Given the description of an element on the screen output the (x, y) to click on. 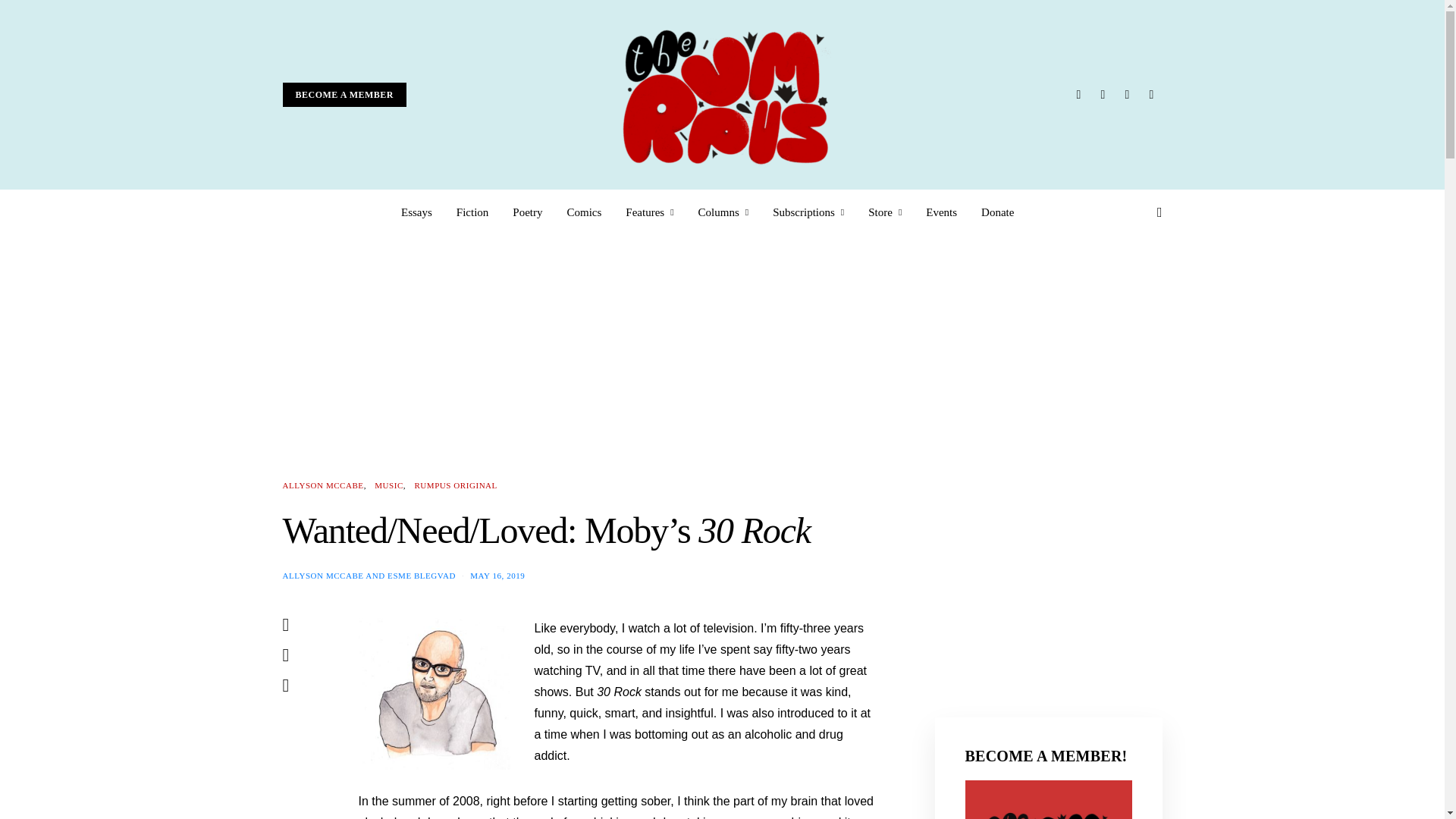
BECOME A MEMBER (344, 94)
View all posts by Allyson McCabe and Esme Blegvad (368, 574)
3rd party ad content (1047, 574)
